Given the description of an element on the screen output the (x, y) to click on. 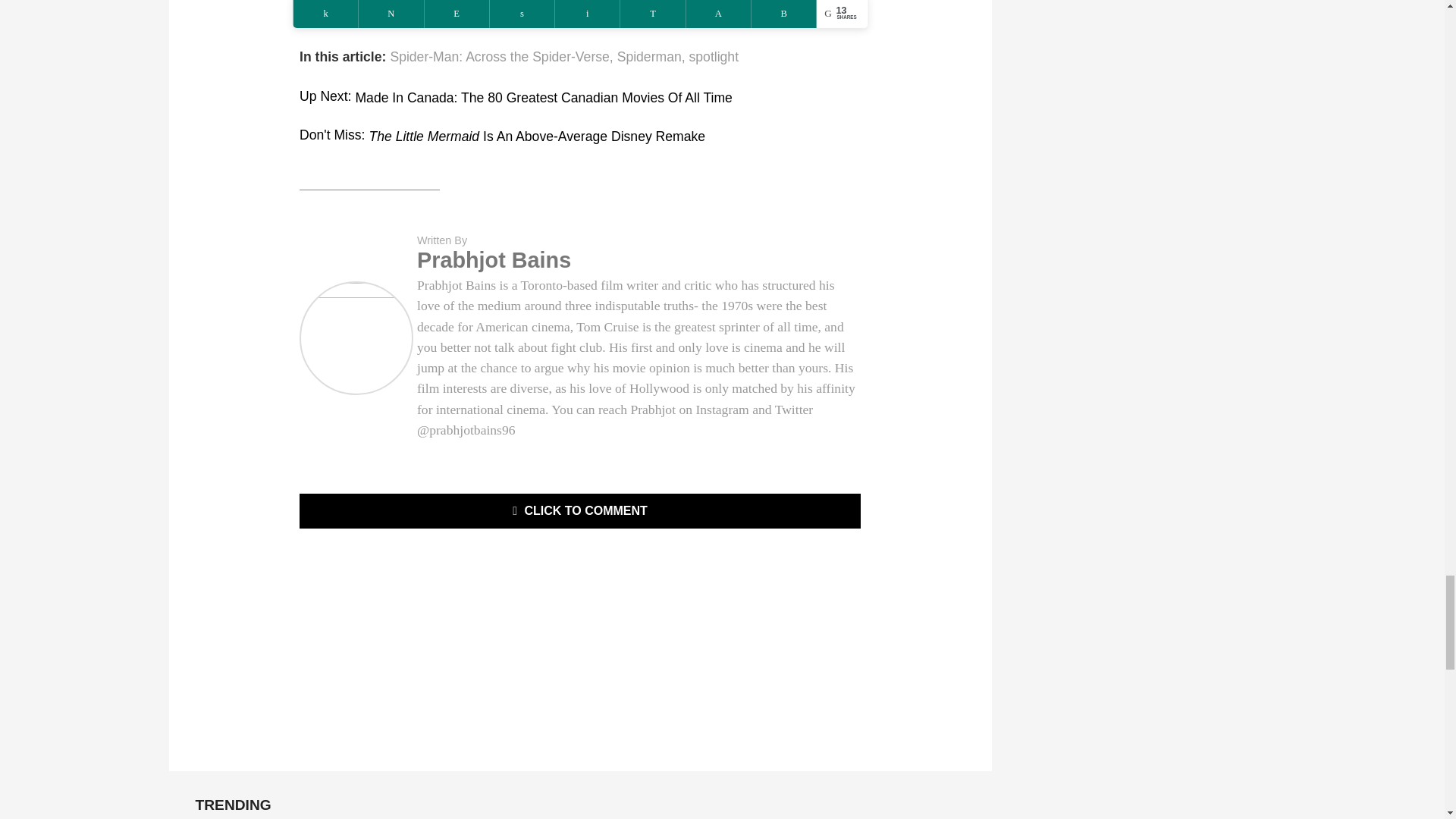
Posts by Prabhjot Bains (493, 259)
Spiderman (649, 57)
Spider-Man: Across the Spider-Verse (499, 57)
